Given the description of an element on the screen output the (x, y) to click on. 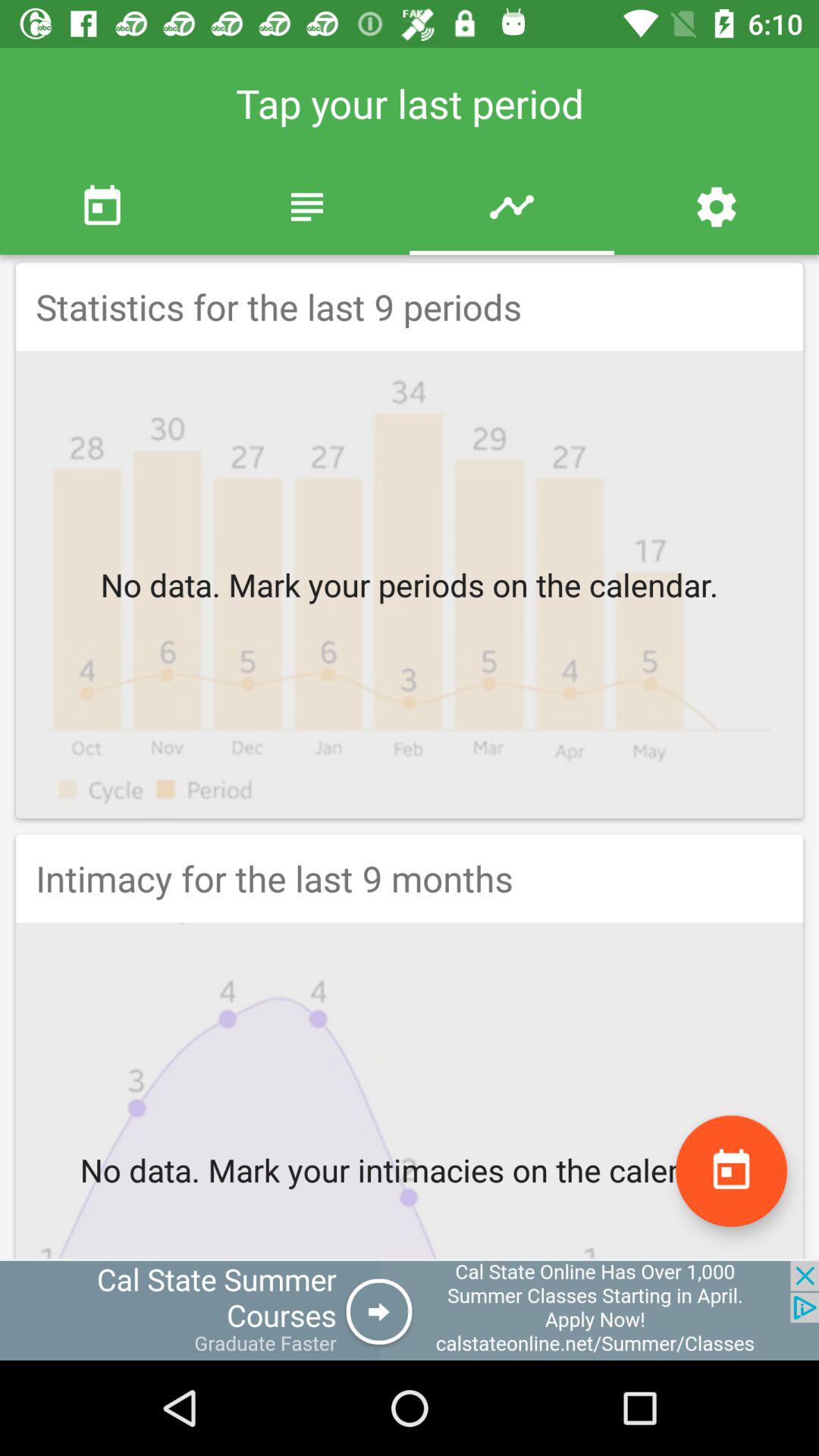
advertisement area (409, 1310)
